Given the description of an element on the screen output the (x, y) to click on. 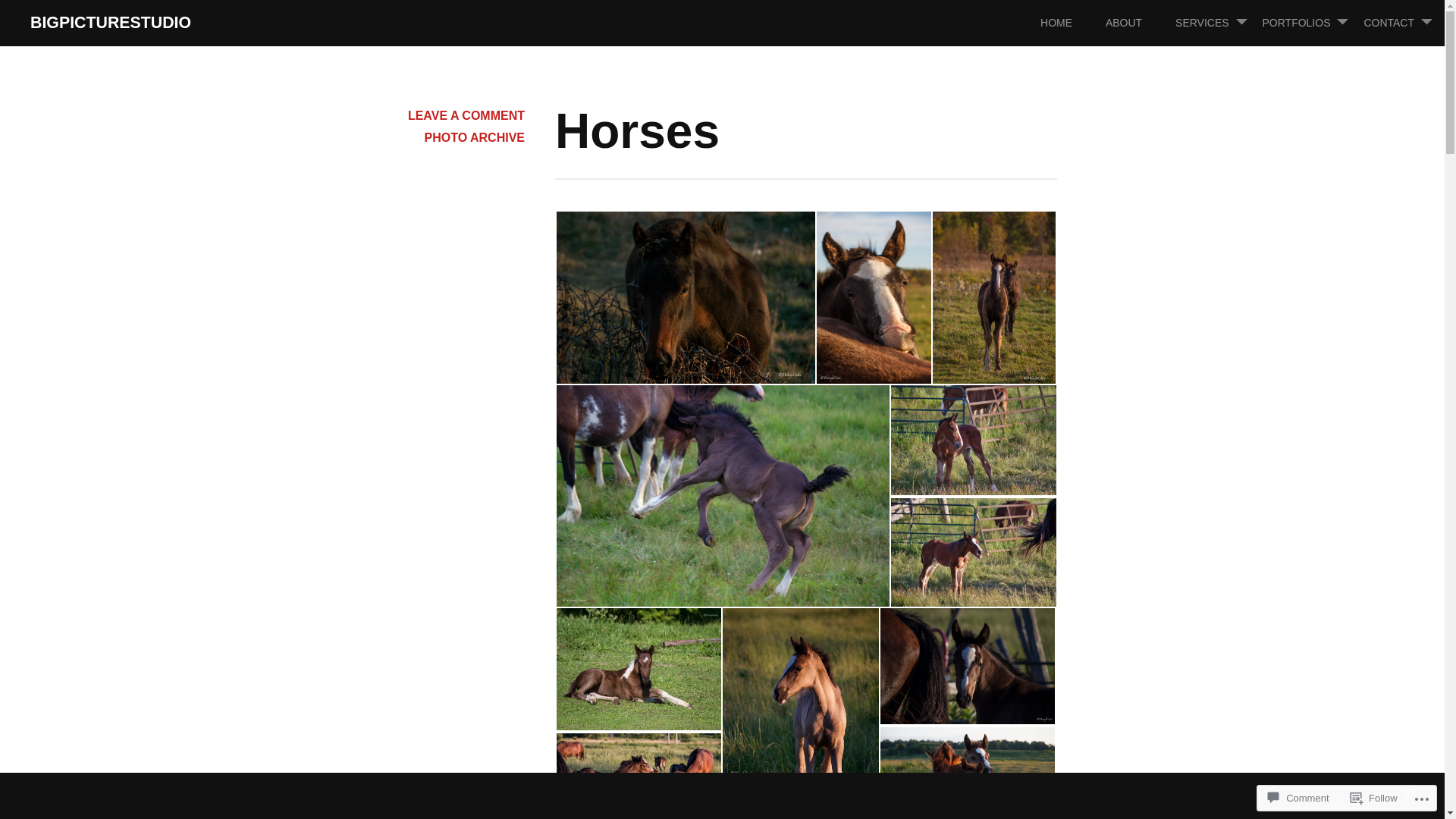
img_3868_brothercolts5x7 Element type: hover (993, 297)
HOME Element type: text (1071, 23)
CONTACT Element type: text (1403, 23)
HDRtist HDR - http://www.ohanaware.com/hdrtist/ Element type: hover (973, 553)
Comment Element type: text (1297, 797)
PHOTO ARCHIVE Element type: text (474, 137)
img_3927_coltbitingfilly Element type: hover (873, 297)
PORTFOLIOS Element type: text (1310, 23)
ABOUT Element type: text (1138, 23)
img_3028_littlebayfoal Element type: hover (967, 666)
Create a website or blog at WordPress.com Element type: text (1408, 795)
SERVICES Element type: text (1217, 23)
LEAVE A COMMENT Element type: text (465, 115)
img_1766_rompingfoal Element type: hover (722, 495)
Follow Element type: text (1373, 797)
img_2276_smithfoal-copy Element type: hover (638, 669)
HDRtist HDR - http://www.ohanaware.com/hdrtist/ Element type: hover (973, 440)
img_0444_brownfilly Element type: hover (685, 297)
BIGPICTURESTUDIO Element type: text (110, 22)
